Given the description of an element on the screen output the (x, y) to click on. 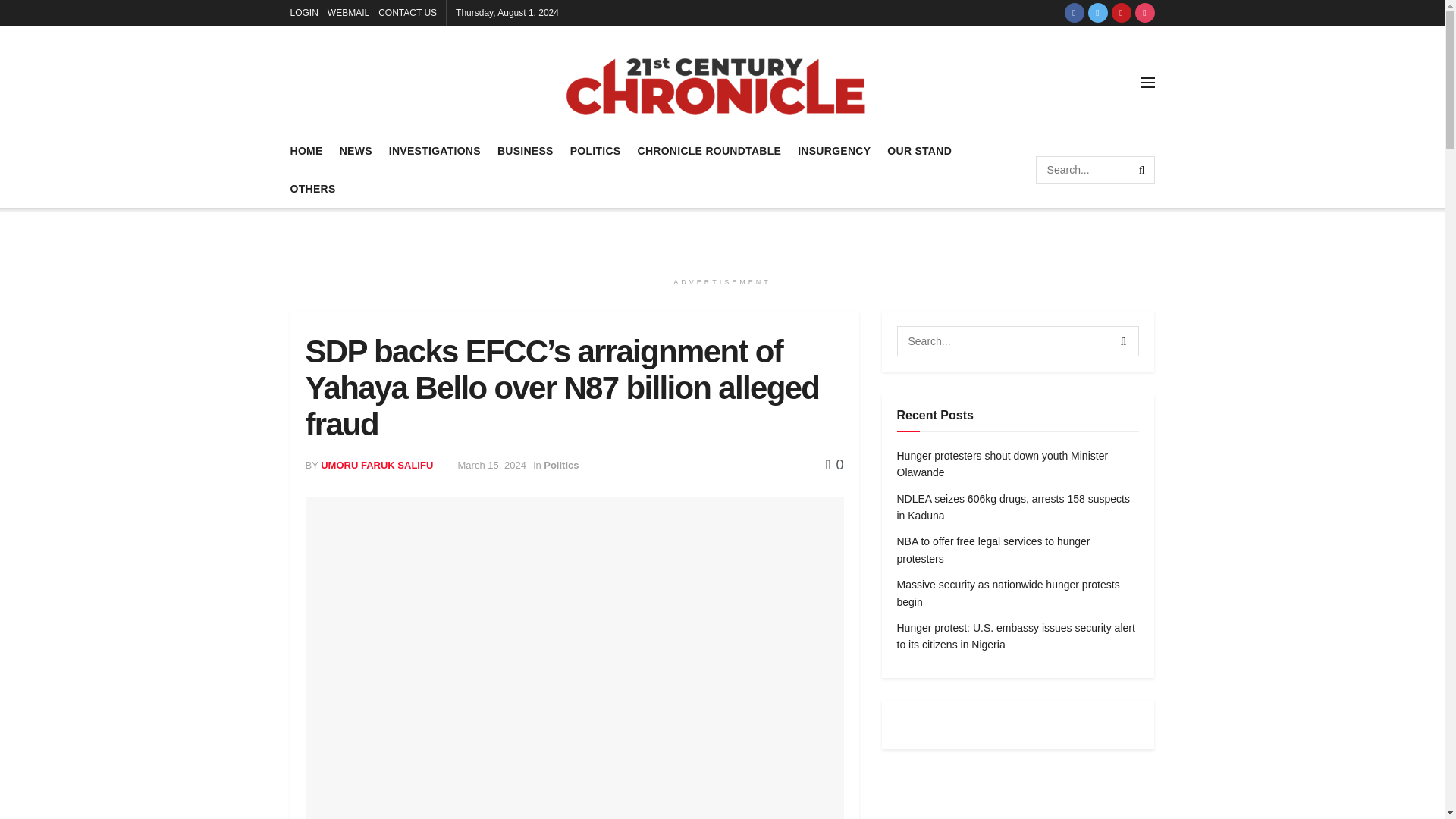
CONTACT US (407, 12)
LOGIN (303, 12)
OUR STAND (919, 150)
OTHERS (311, 188)
POLITICS (595, 150)
CHRONICLE ROUNDTABLE (708, 150)
BUSINESS (525, 150)
INSURGENCY (833, 150)
INVESTIGATIONS (434, 150)
WEBMAIL (348, 12)
